Given the description of an element on the screen output the (x, y) to click on. 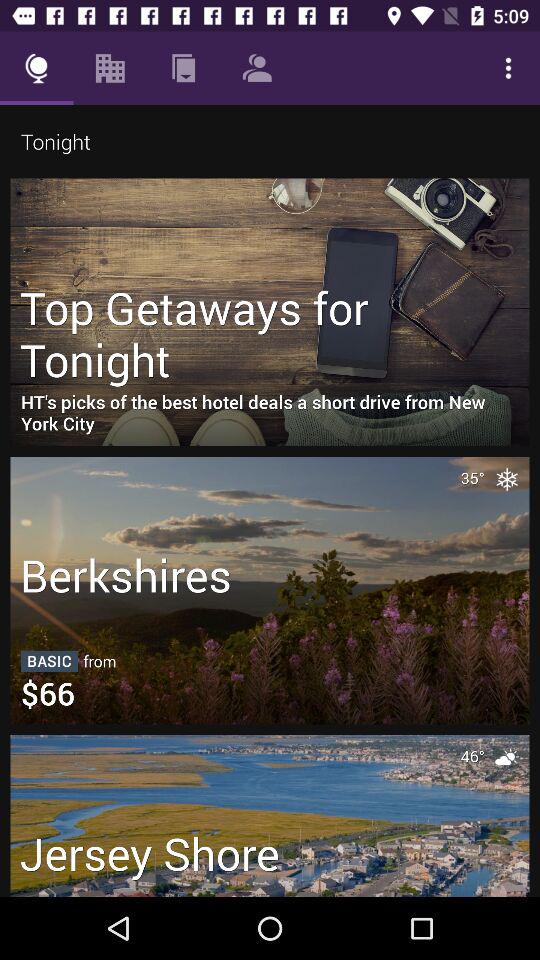
click on the profile icon (256, 67)
select more option on page (508, 68)
